Given the description of an element on the screen output the (x, y) to click on. 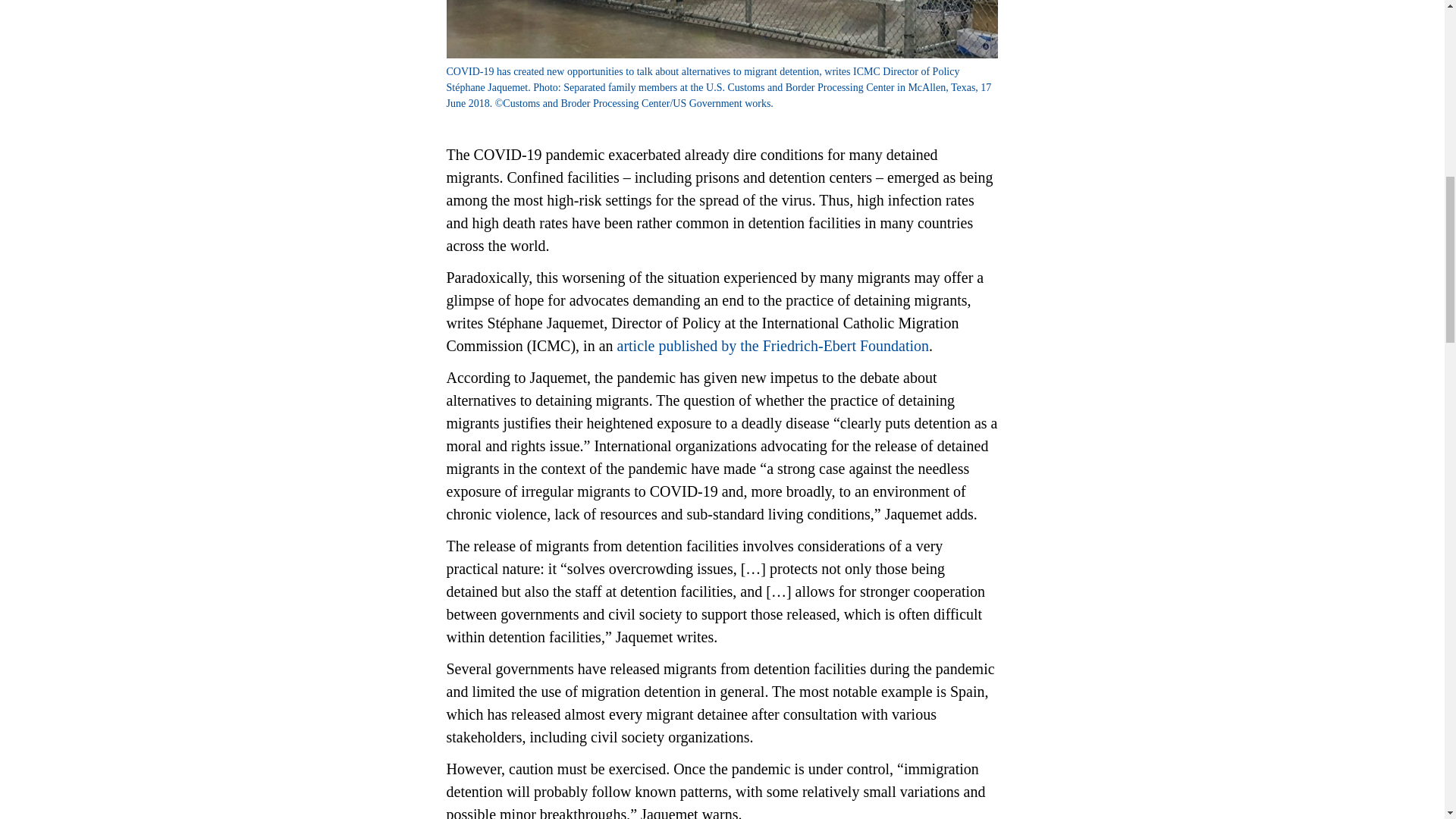
article published by the Friedrich-Ebert Foundation (773, 345)
